Given the description of an element on the screen output the (x, y) to click on. 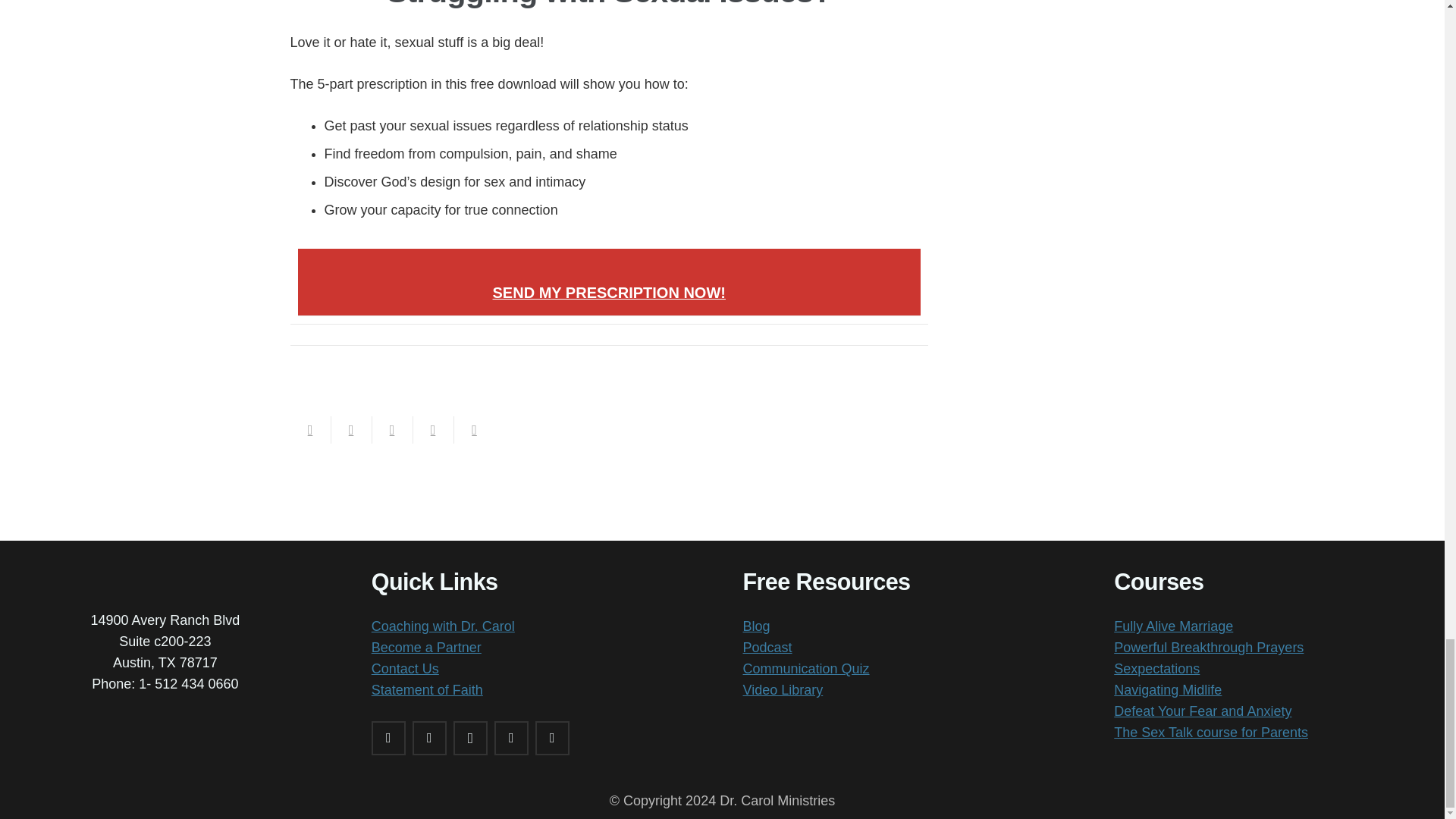
Share this (432, 429)
Pin this (473, 429)
iTunes (511, 738)
Tweet this (391, 429)
SEND MY PRESCRIPTION NOW! (609, 292)
Share this (350, 429)
Twitter (429, 738)
Instagram (469, 738)
YouTube (552, 738)
Email this (309, 429)
